Given the description of an element on the screen output the (x, y) to click on. 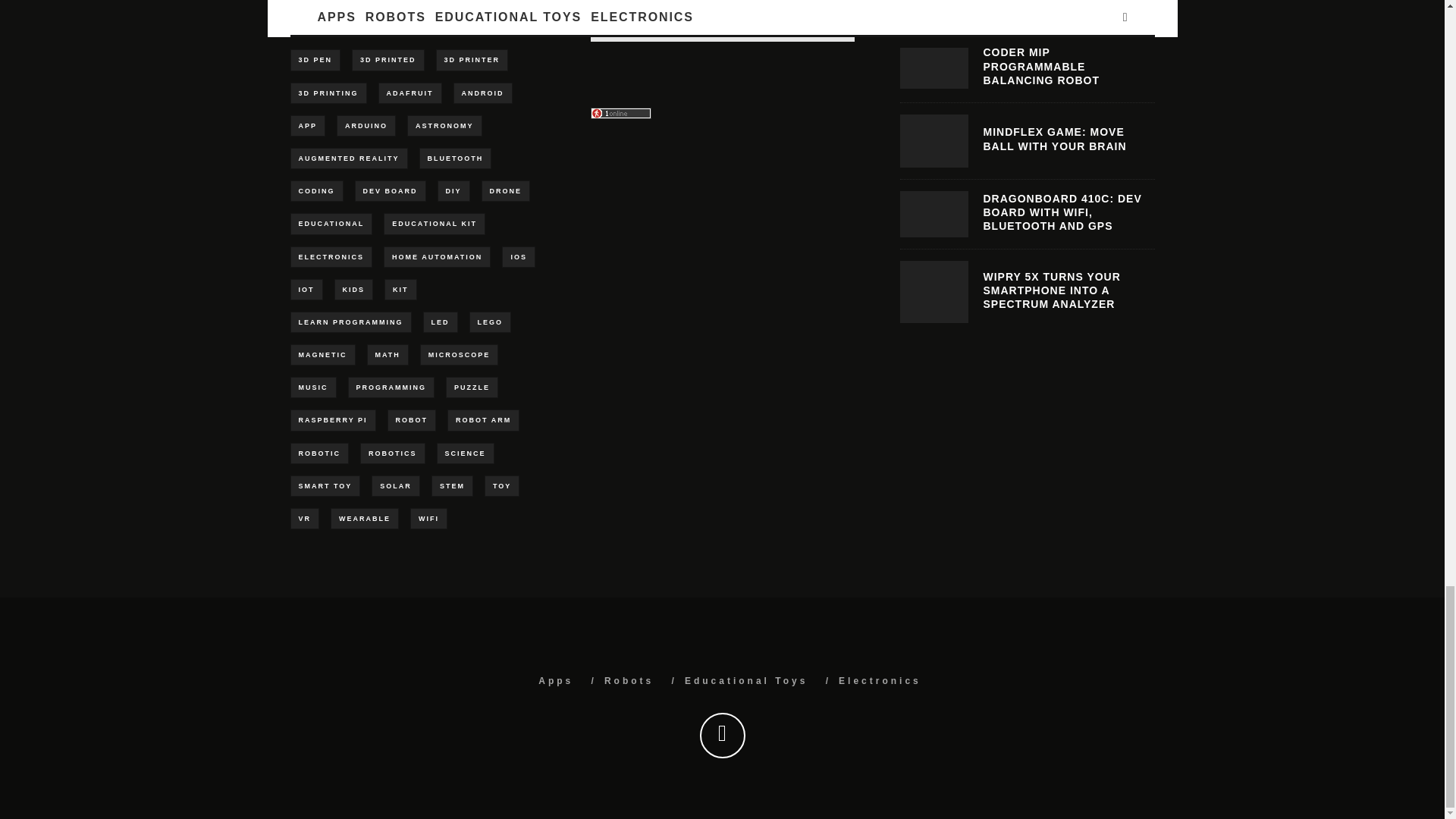
Click to see what's popular on this site! (619, 112)
